Given the description of an element on the screen output the (x, y) to click on. 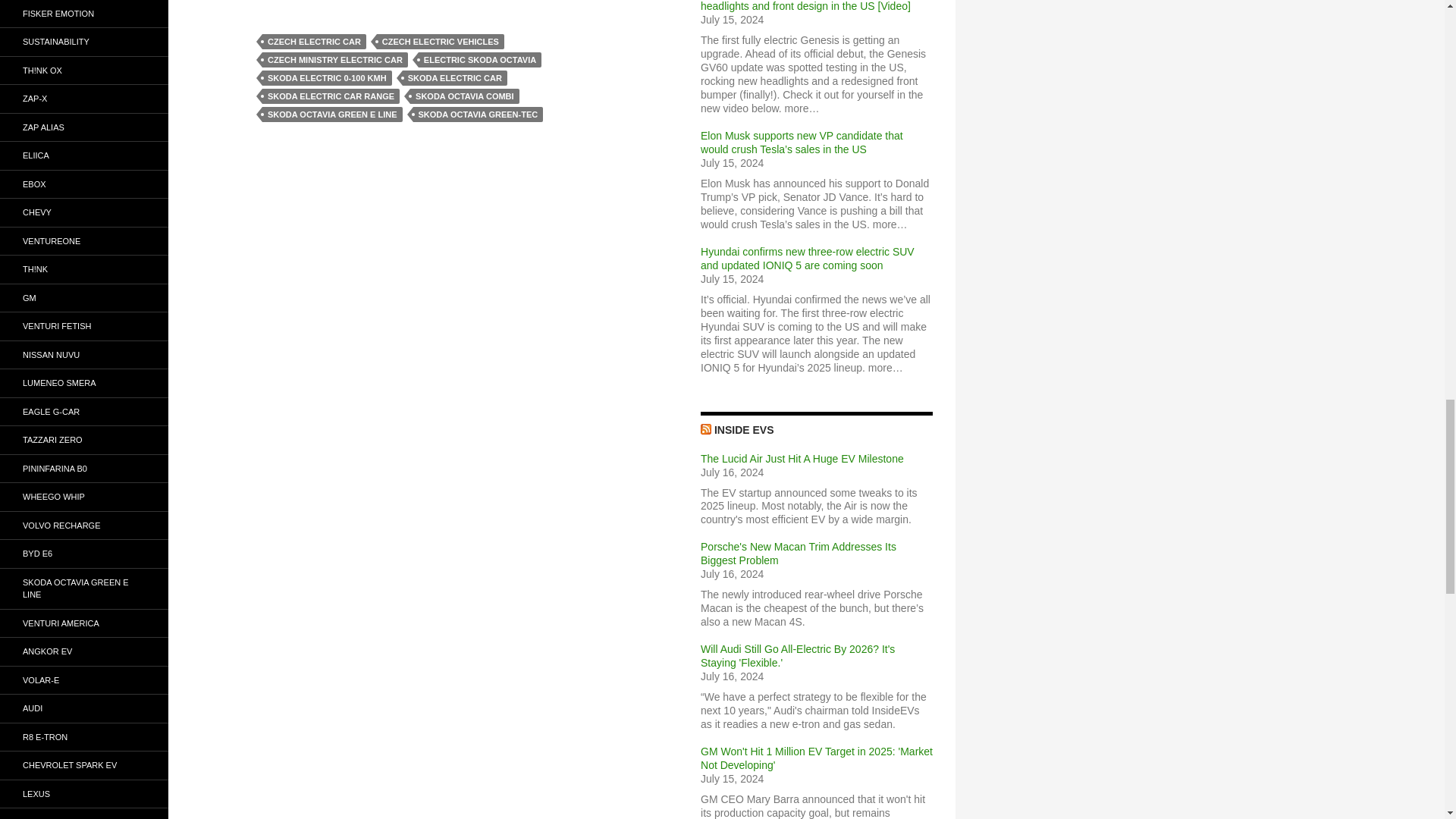
SKODA OCTAVIA GREEN E LINE (332, 114)
SKODA ELECTRIC CAR (454, 77)
SKODA OCTAVIA COMBI (464, 96)
ELECTRIC SKODA OCTAVIA (480, 59)
CZECH ELECTRIC VEHICLES (440, 41)
SKODA ELECTRIC CAR RANGE (330, 96)
CZECH MINISTRY ELECTRIC CAR (334, 59)
CZECH ELECTRIC CAR (314, 41)
SKODA ELECTRIC 0-100 KMH (326, 77)
SKODA OCTAVIA GREEN-TEC (478, 114)
